Given the description of an element on the screen output the (x, y) to click on. 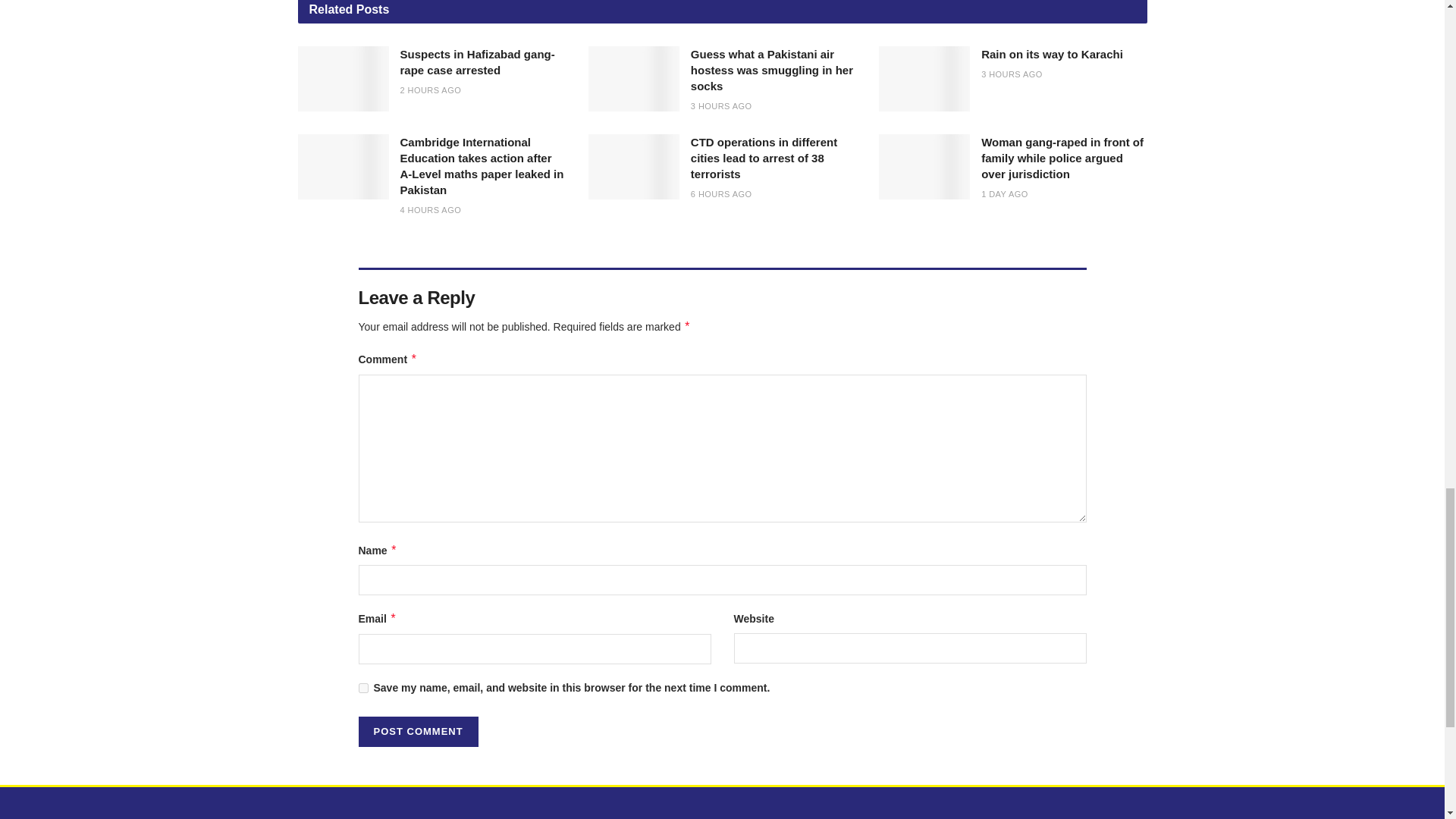
Post Comment (417, 731)
yes (363, 687)
